Given the description of an element on the screen output the (x, y) to click on. 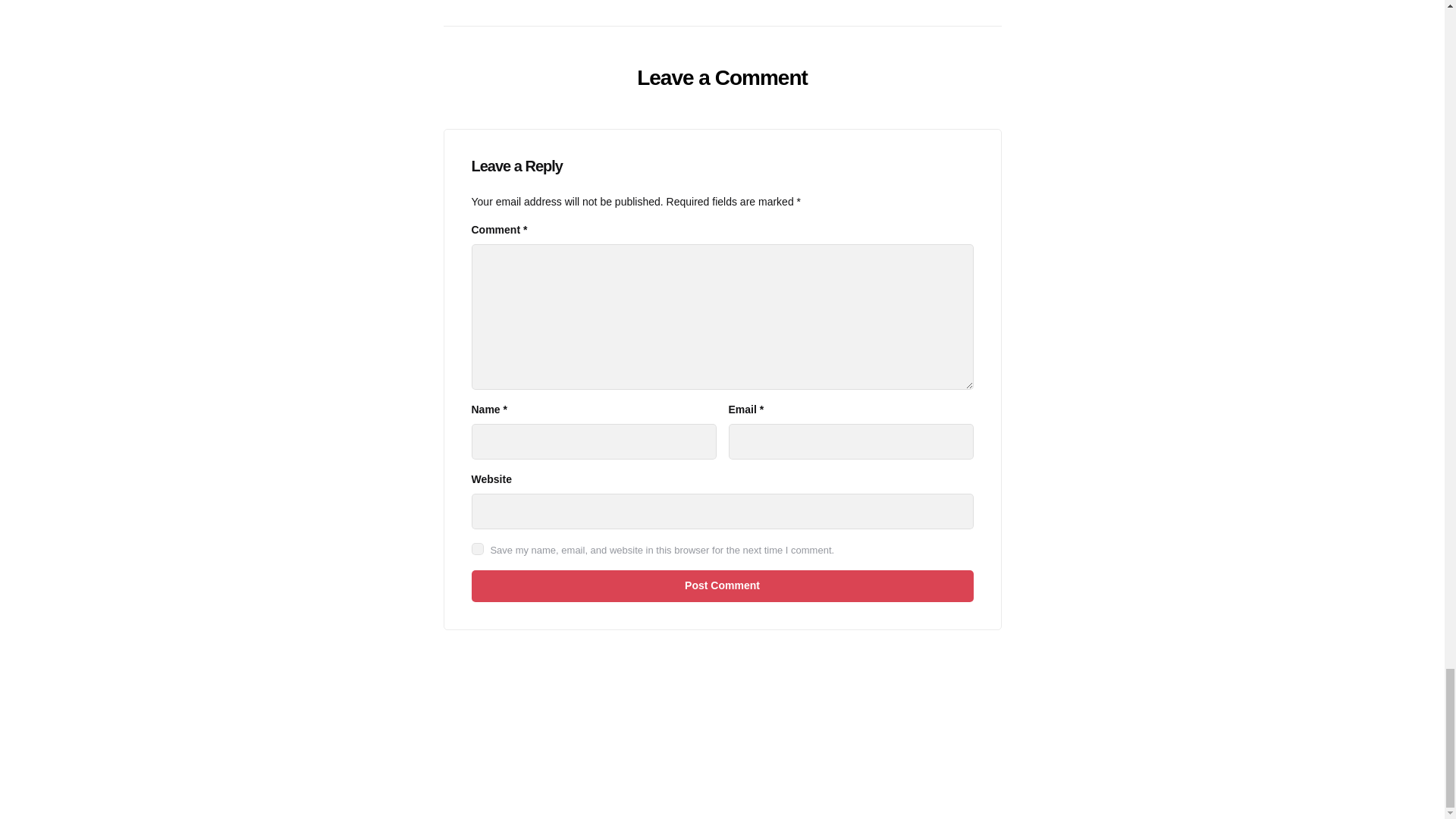
yes (477, 548)
Post Comment (722, 585)
